Given the description of an element on the screen output the (x, y) to click on. 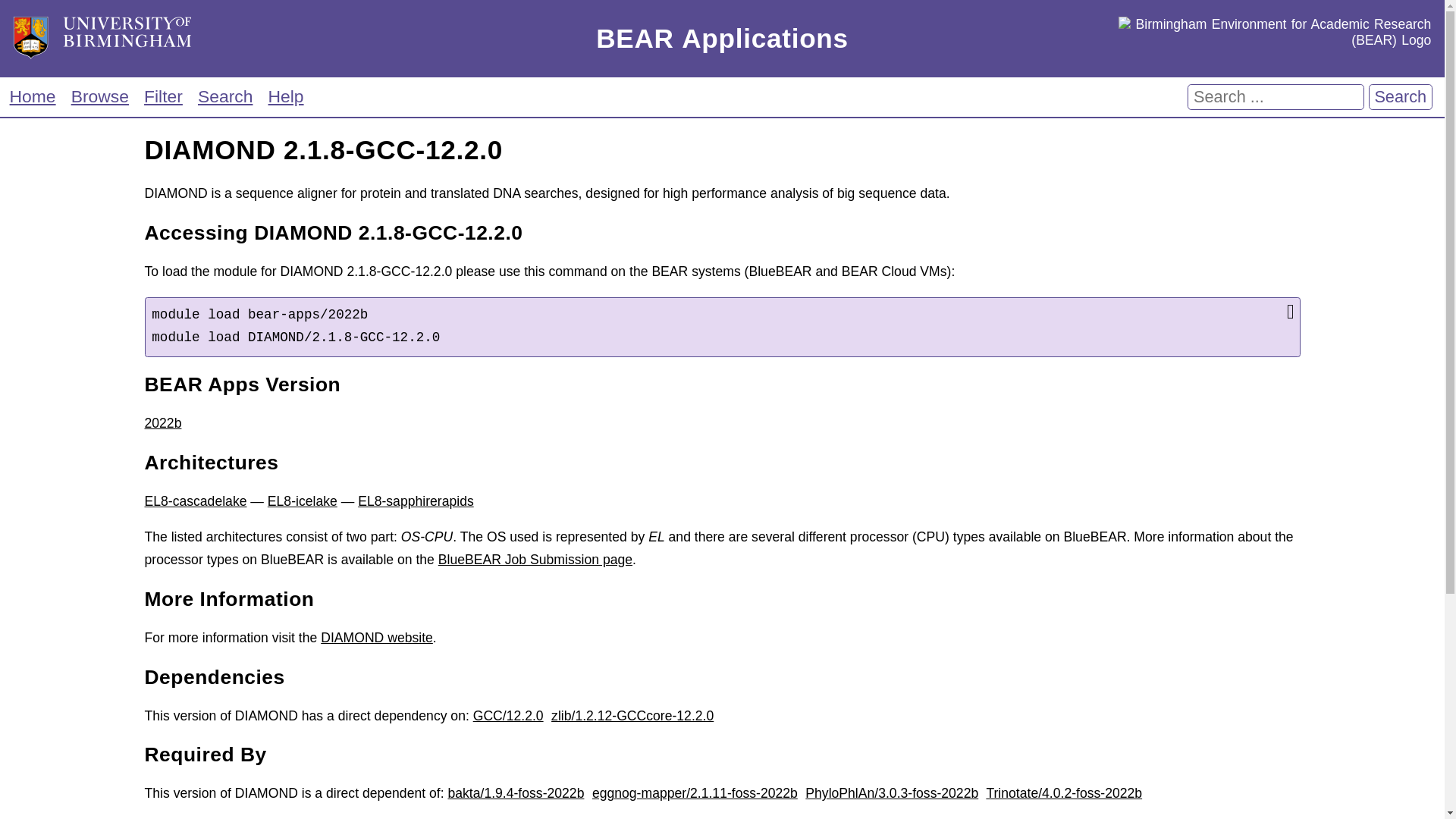
EL8-sapphirerapids (416, 500)
BlueBEAR Job Submission page (534, 559)
EL8-cascadelake (195, 500)
Help (285, 96)
Search (224, 96)
BEAR Applications (722, 39)
Home (32, 96)
Filter (162, 96)
2022b (162, 422)
EL8-icelake (302, 500)
Search (1400, 97)
DIAMOND website (376, 637)
Browse (99, 96)
